Given the description of an element on the screen output the (x, y) to click on. 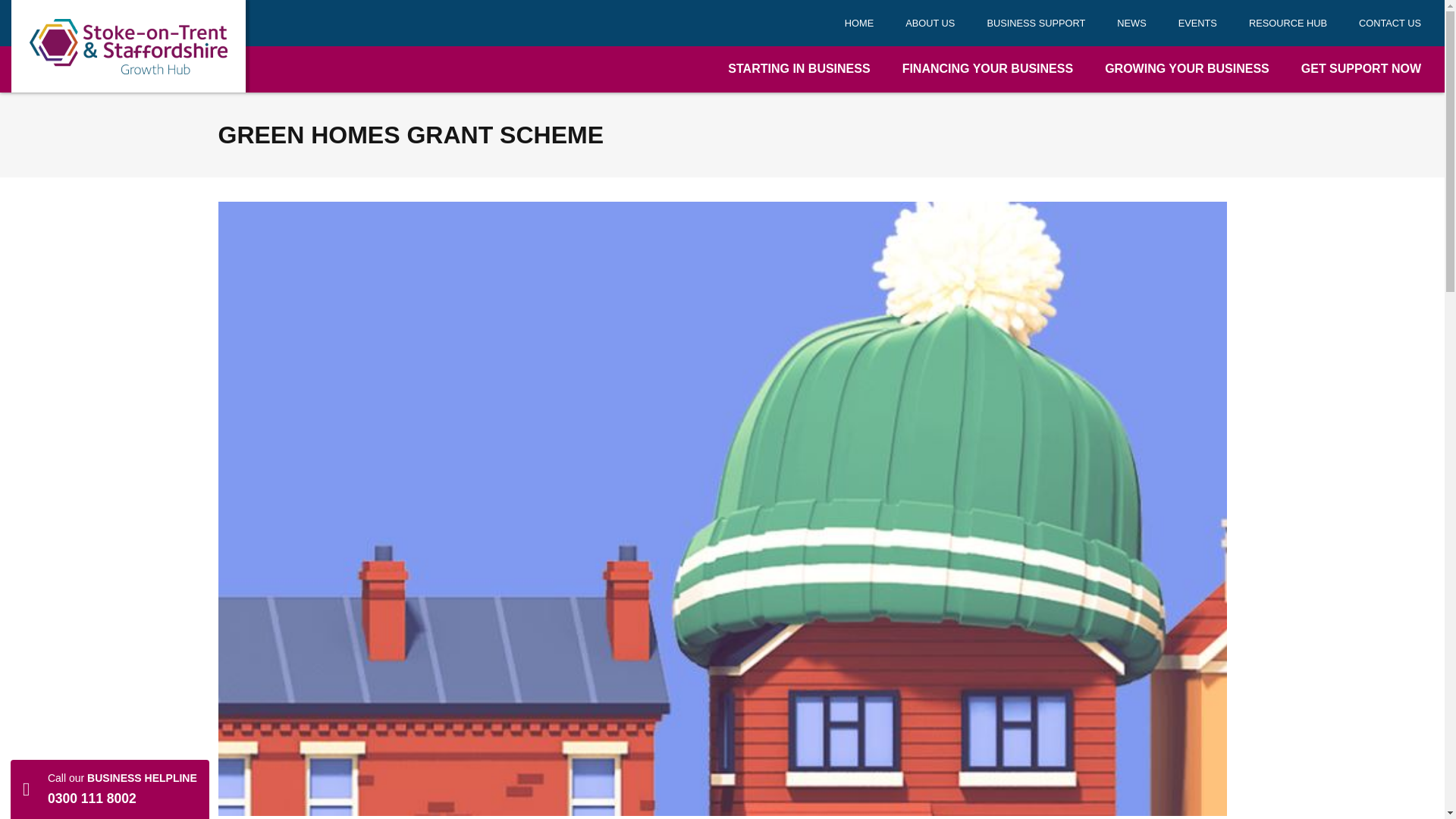
FINANCING YOUR BUSINESS (987, 68)
News (1131, 22)
HOME (858, 22)
GROWING YOUR BUSINESS (1187, 68)
ABOUT US (929, 22)
EVENTS (1197, 22)
Resource Hub (1287, 22)
CONTACT US (1389, 22)
Starting In Business (799, 68)
RESOURCE HUB (1287, 22)
About Us (929, 22)
NEWS (1131, 22)
Financing Your Business (987, 68)
Business Support (1035, 22)
Stoke on Trent Staffordshire Growth Hub (128, 46)
